Given the description of an element on the screen output the (x, y) to click on. 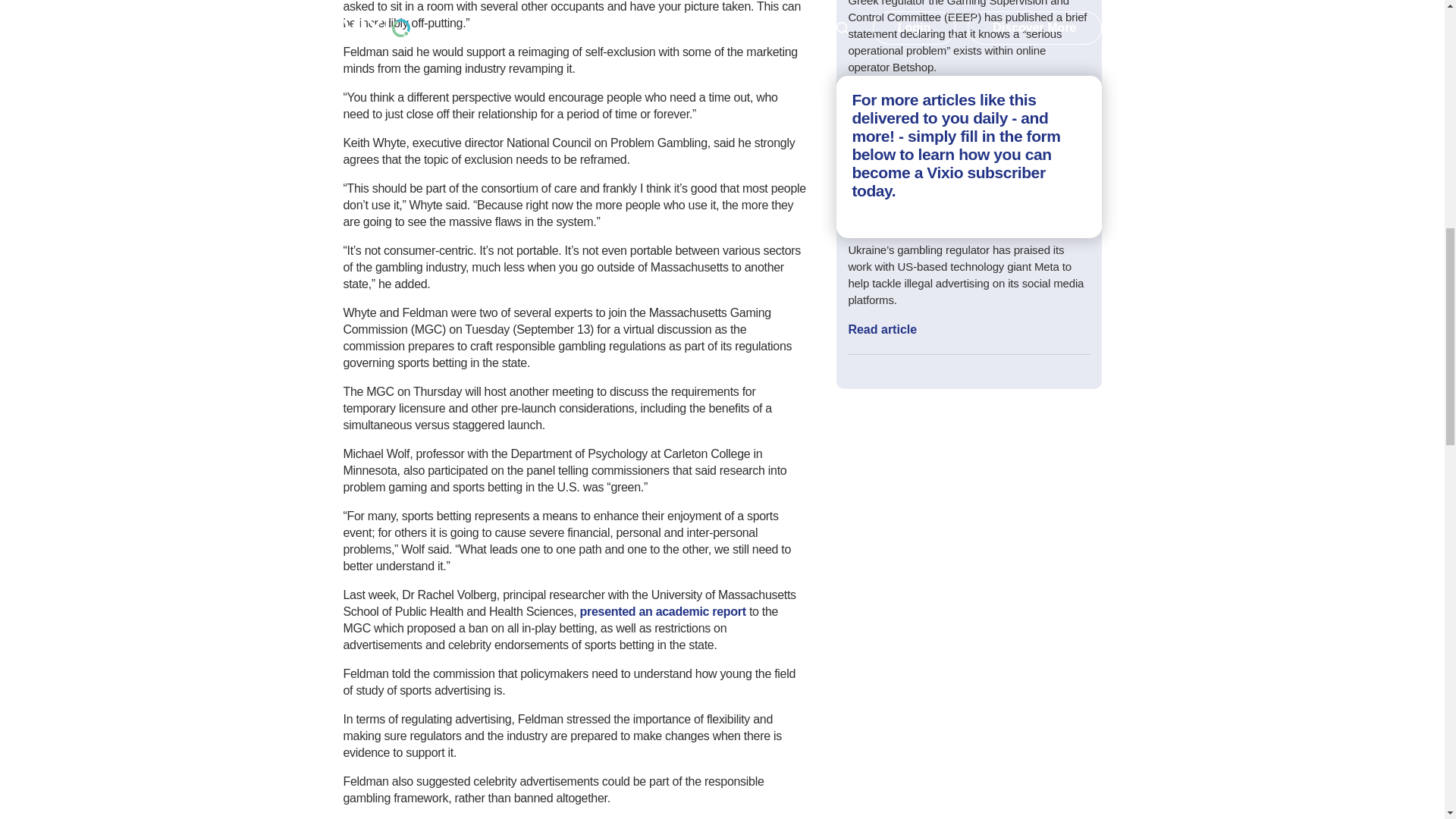
presented an academic report (660, 611)
